Given the description of an element on the screen output the (x, y) to click on. 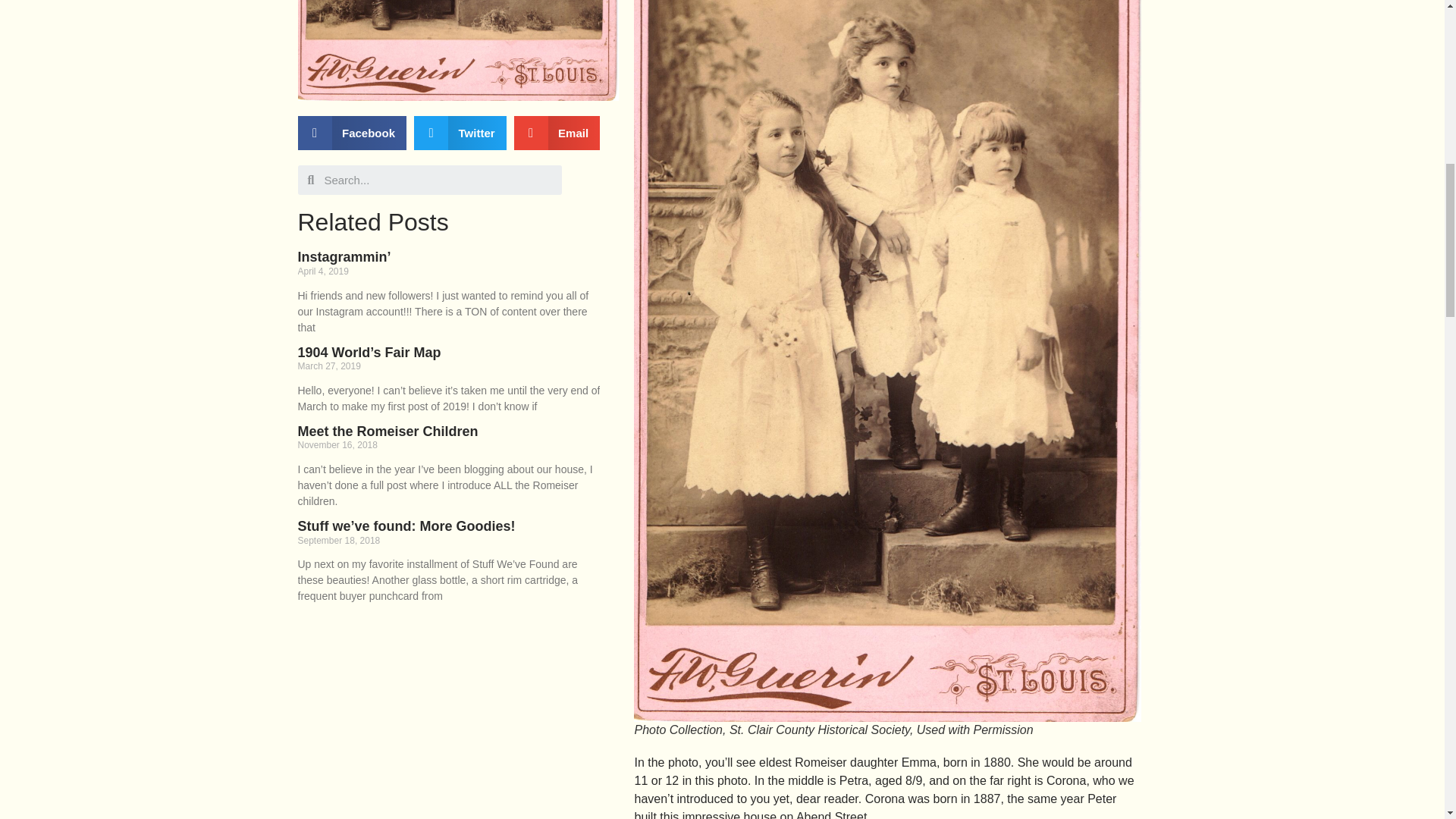
Meet the Romeiser Children (387, 431)
Search (438, 179)
